Given the description of an element on the screen output the (x, y) to click on. 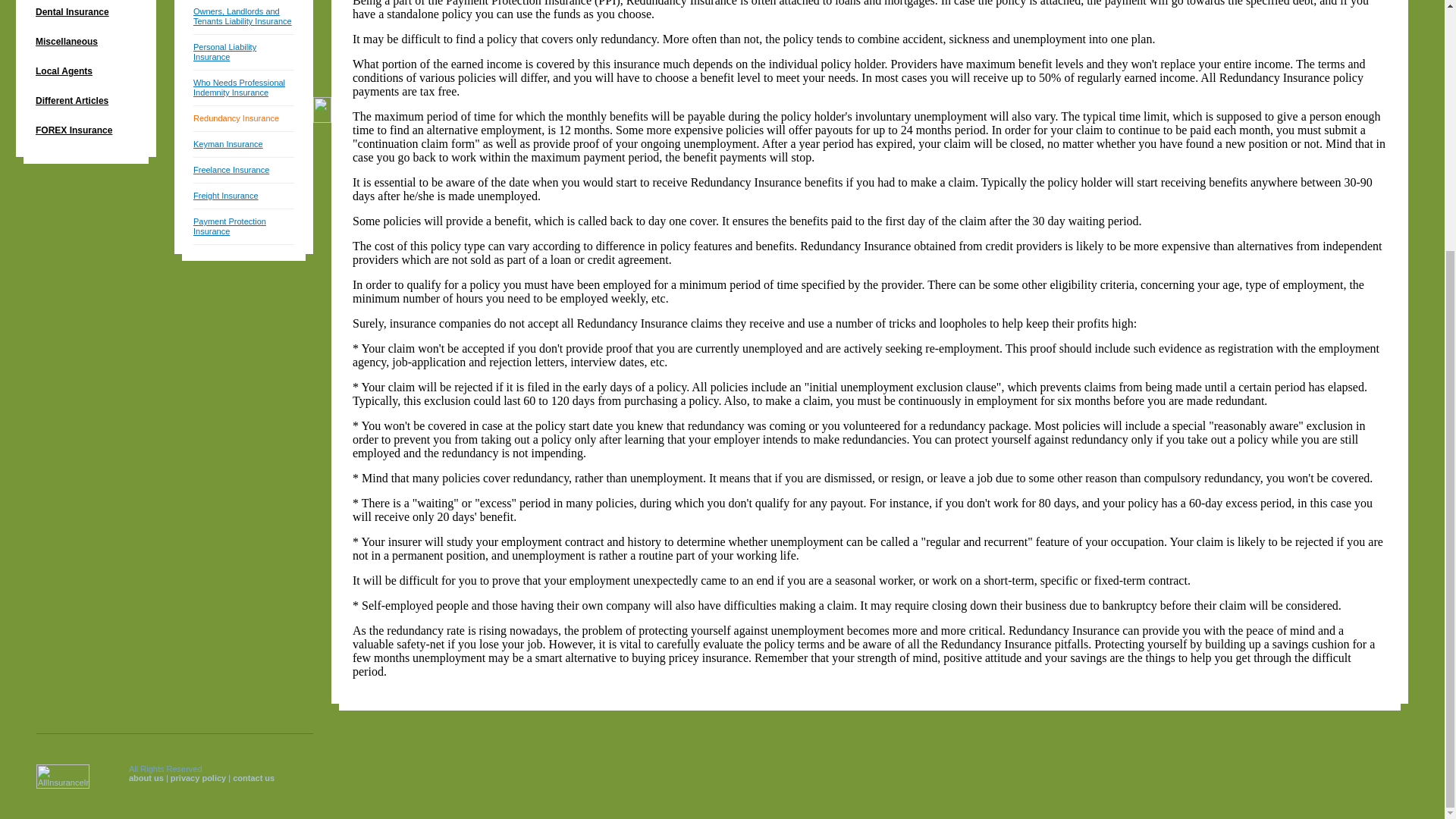
Personal Liability Insurance (224, 51)
Local Agents (85, 72)
Freelance Insurance (231, 169)
Freight Insurance (226, 194)
Payment Protection Insurance (229, 226)
Keyman Insurance (228, 143)
privacy policy (197, 777)
about us (146, 777)
Who Needs Professional Indemnity Insurance (239, 87)
contact us (253, 777)
